Given the description of an element on the screen output the (x, y) to click on. 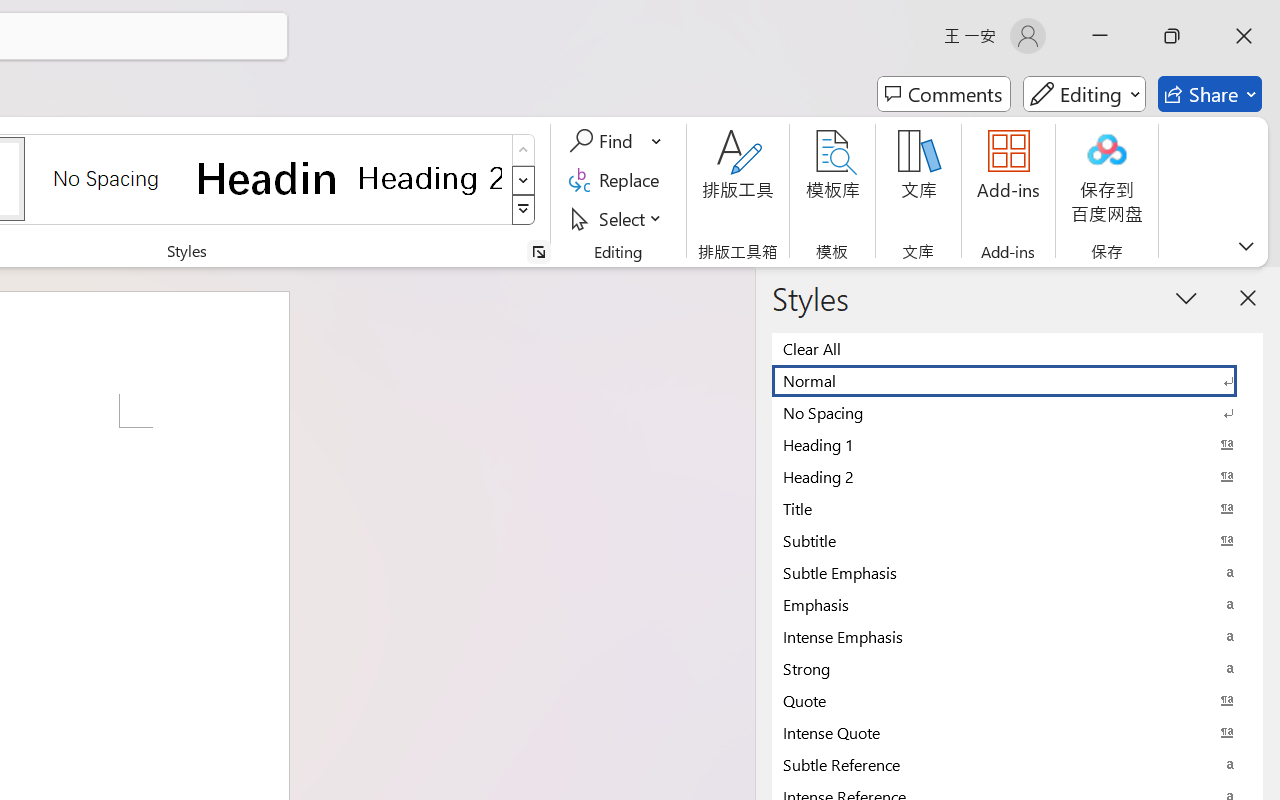
Title (1017, 508)
Task Pane Options (1186, 297)
Clear All (1017, 348)
Row Down (523, 180)
